Given the description of an element on the screen output the (x, y) to click on. 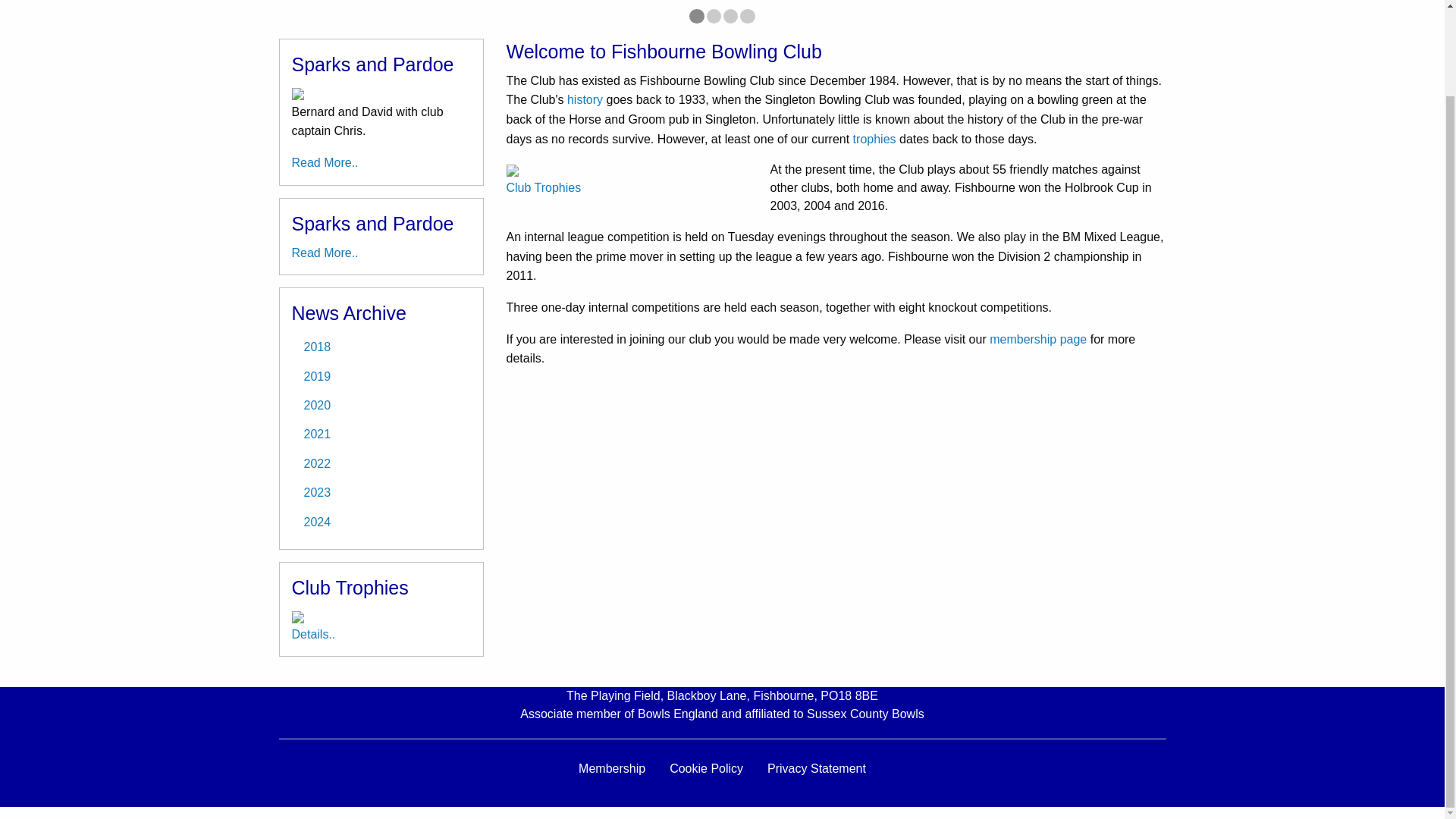
2023 (380, 492)
2022 (380, 463)
2018 (380, 346)
2020 (380, 405)
membership page (1038, 338)
1614941855 (730, 16)
2019 (380, 375)
2021 (380, 434)
trophies (874, 138)
Details.. (312, 634)
Club Trophies (543, 187)
Login (764, 171)
Read More.. (324, 252)
1507157112 (746, 16)
history (584, 99)
